Given the description of an element on the screen output the (x, y) to click on. 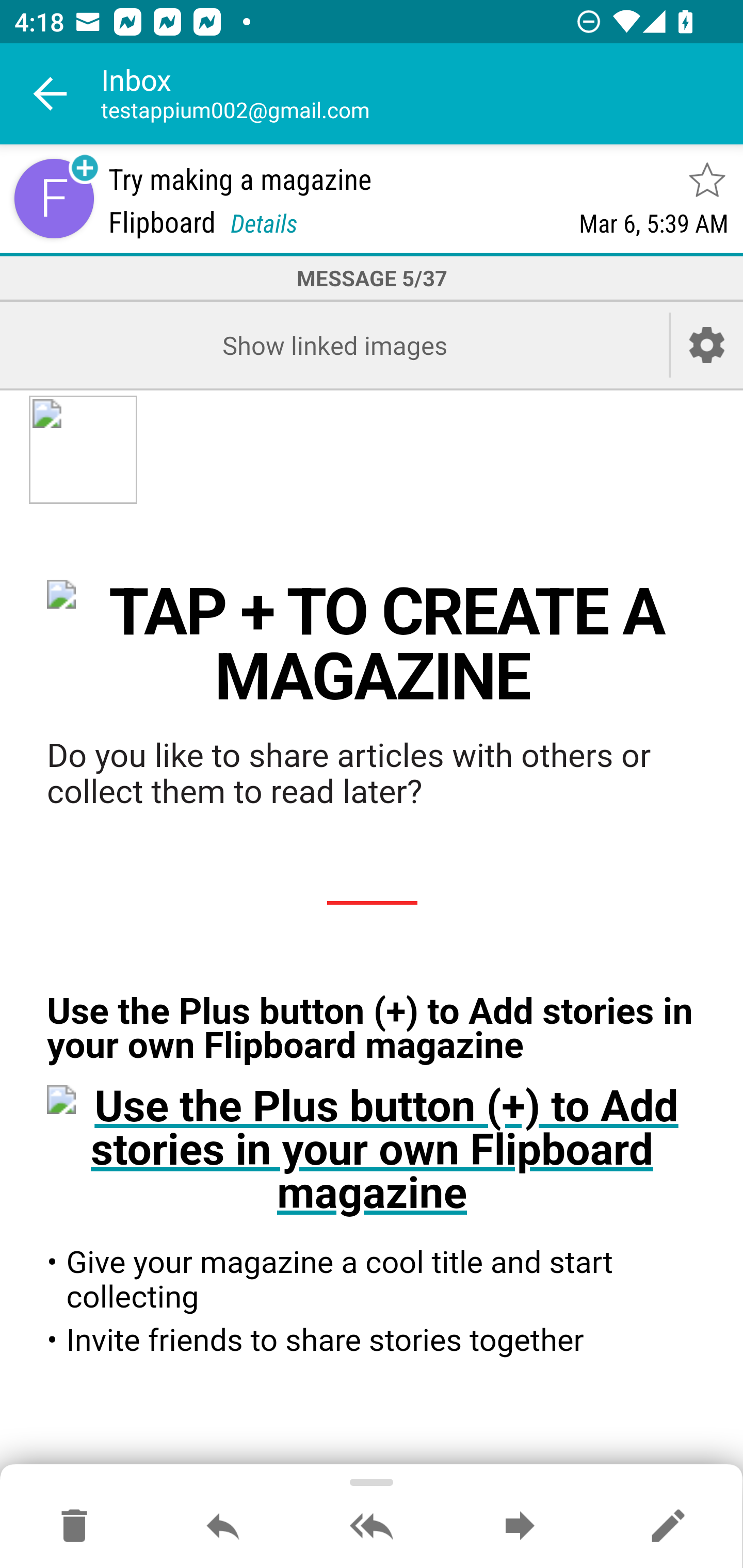
Navigate up (50, 93)
Inbox testappium002@gmail.com (422, 93)
Sender contact button (53, 198)
Show linked images (334, 344)
Account setup (706, 344)
Move to Deleted (74, 1527)
Reply (222, 1527)
Reply all (371, 1527)
Forward (519, 1527)
Reply as new (667, 1527)
